Given the description of an element on the screen output the (x, y) to click on. 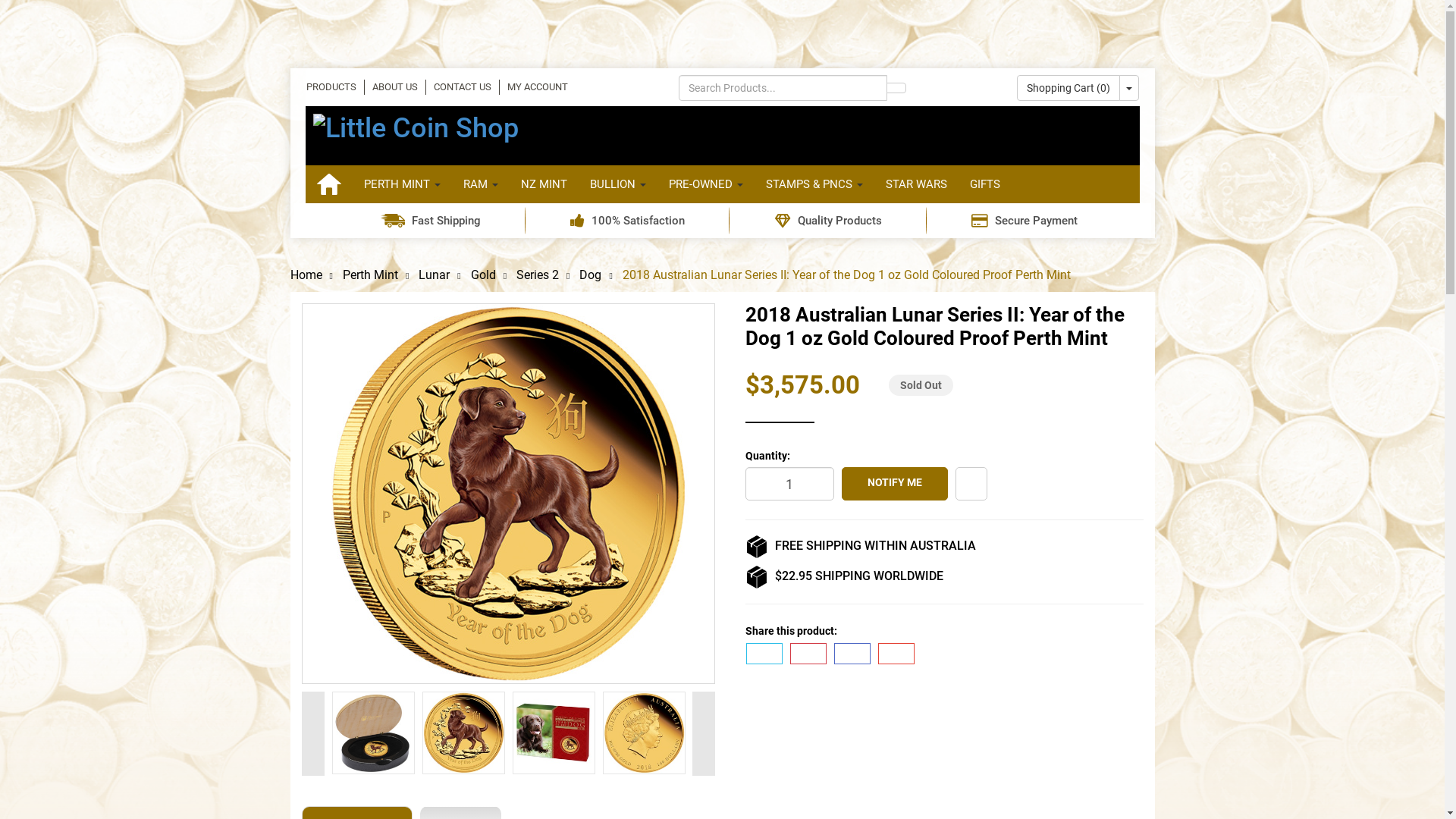
Dog Element type: text (590, 274)
STAR WARS Element type: text (915, 184)
Large View Element type: hover (462, 732)
RAM Element type: text (480, 184)
Lunar Element type: text (433, 274)
Home Element type: text (305, 274)
Gold Element type: text (482, 274)
Large View Element type: hover (552, 732)
PRE-OWNED Element type: text (704, 184)
Large View Element type: hover (643, 732)
Perth Mint Element type: text (370, 274)
PRODUCTS Element type: text (331, 86)
Large View Element type: hover (553, 732)
Shopping Cart (0) Element type: text (1067, 87)
GIFTS Element type: text (984, 184)
Add To Wishlist Element type: hover (971, 483)
Large View Element type: hover (372, 732)
STAMPS & PNCS Element type: text (813, 184)
Series 2 Element type: text (537, 274)
CONTACT US Element type: text (462, 86)
Search Element type: text (895, 87)
PERTH MINT Element type: text (401, 184)
Large View Element type: hover (463, 732)
NOTIFY ME Element type: text (894, 483)
BULLION Element type: text (616, 184)
MY ACCOUNT Element type: text (536, 86)
NZ MINT Element type: text (543, 184)
ABOUT US Element type: text (394, 86)
Large View Element type: hover (373, 732)
Large View Element type: hover (643, 732)
